Given the description of an element on the screen output the (x, y) to click on. 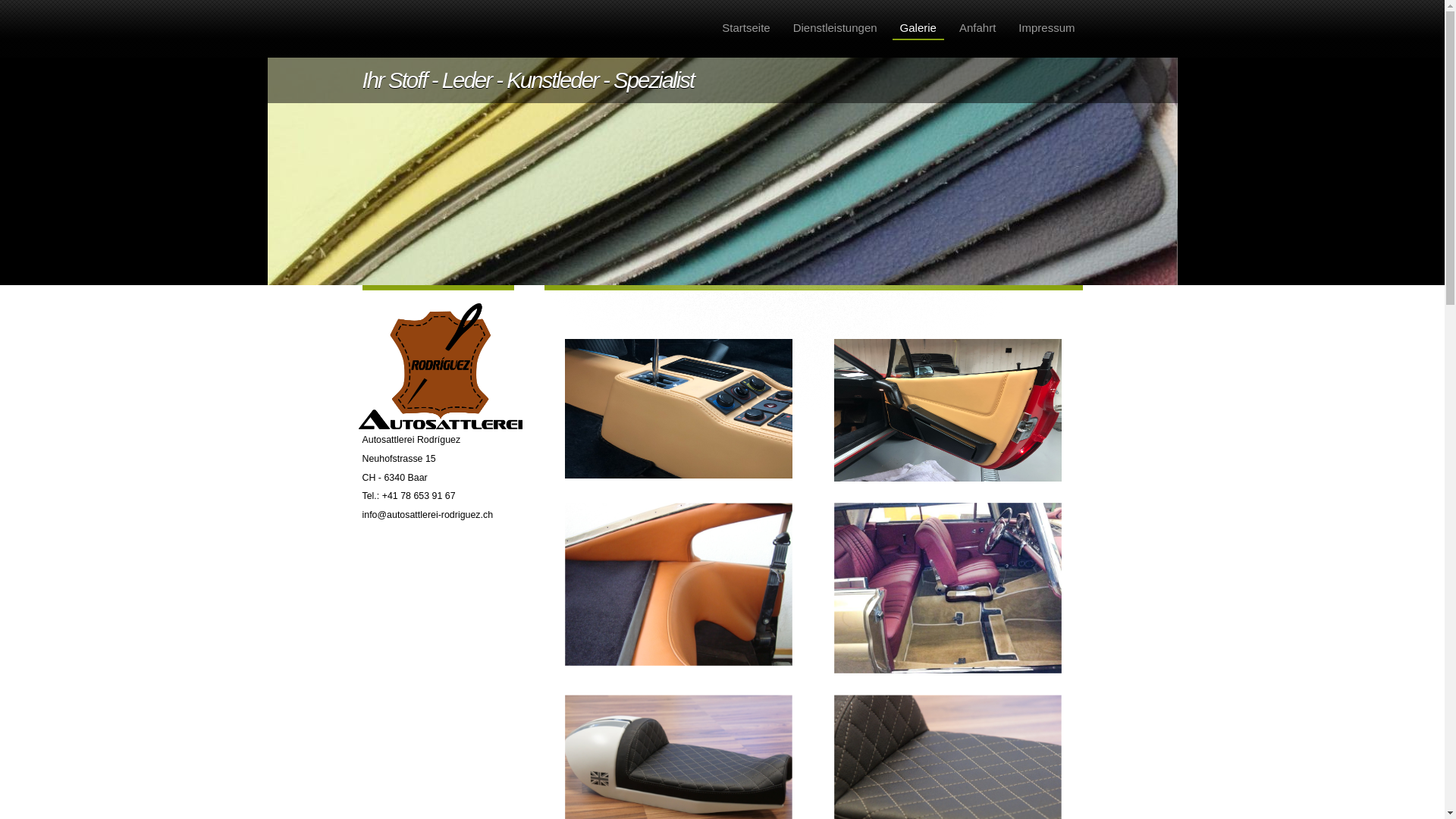
Impressum Element type: text (1046, 27)
Startseite Element type: text (745, 27)
Galerie Element type: text (918, 28)
Anfahrt Element type: text (977, 27)
Dienstleistungen Element type: text (834, 27)
